Given the description of an element on the screen output the (x, y) to click on. 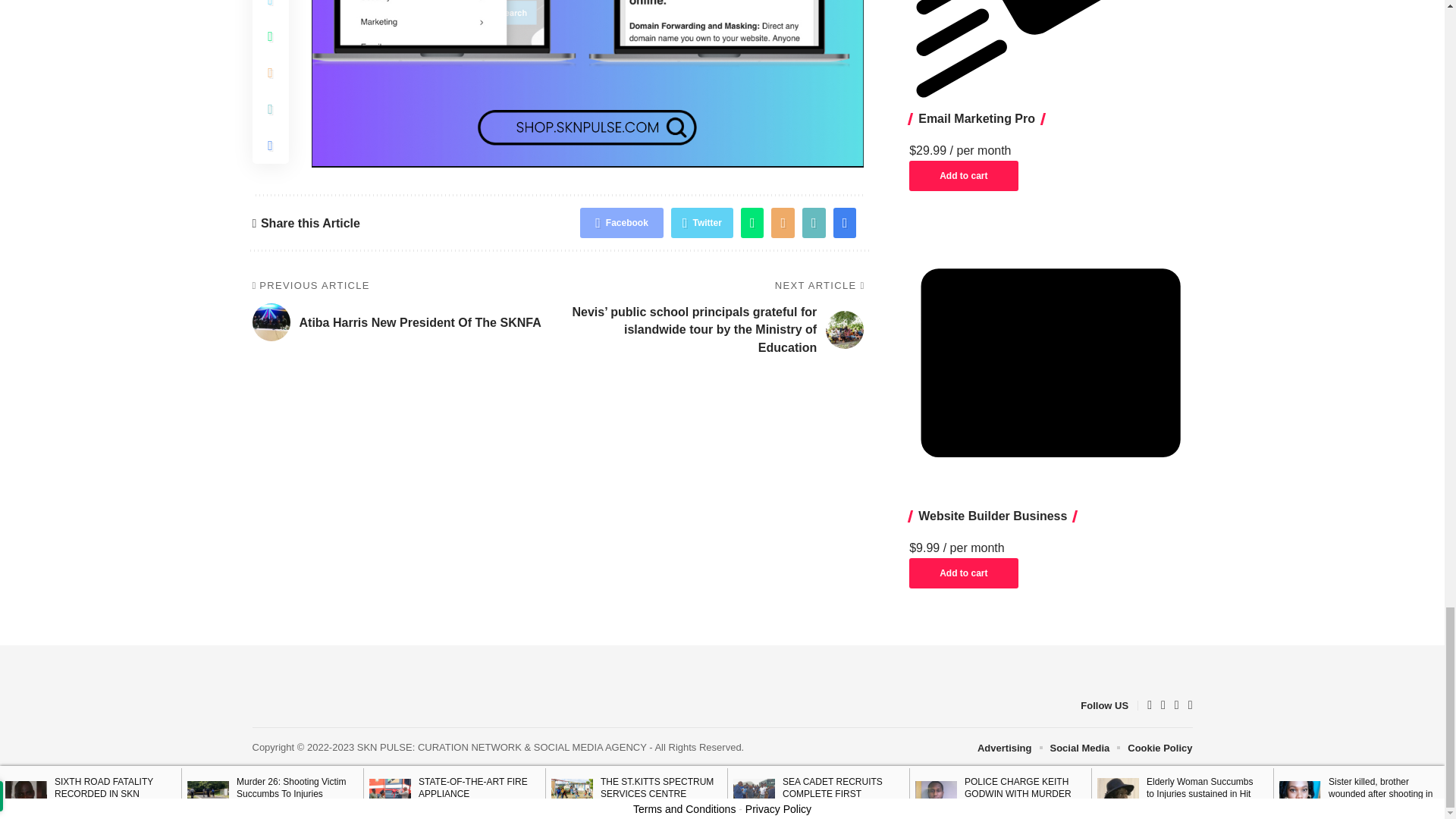
Website Builder (1050, 362)
Email Marketing (1050, 53)
